Given the description of an element on the screen output the (x, y) to click on. 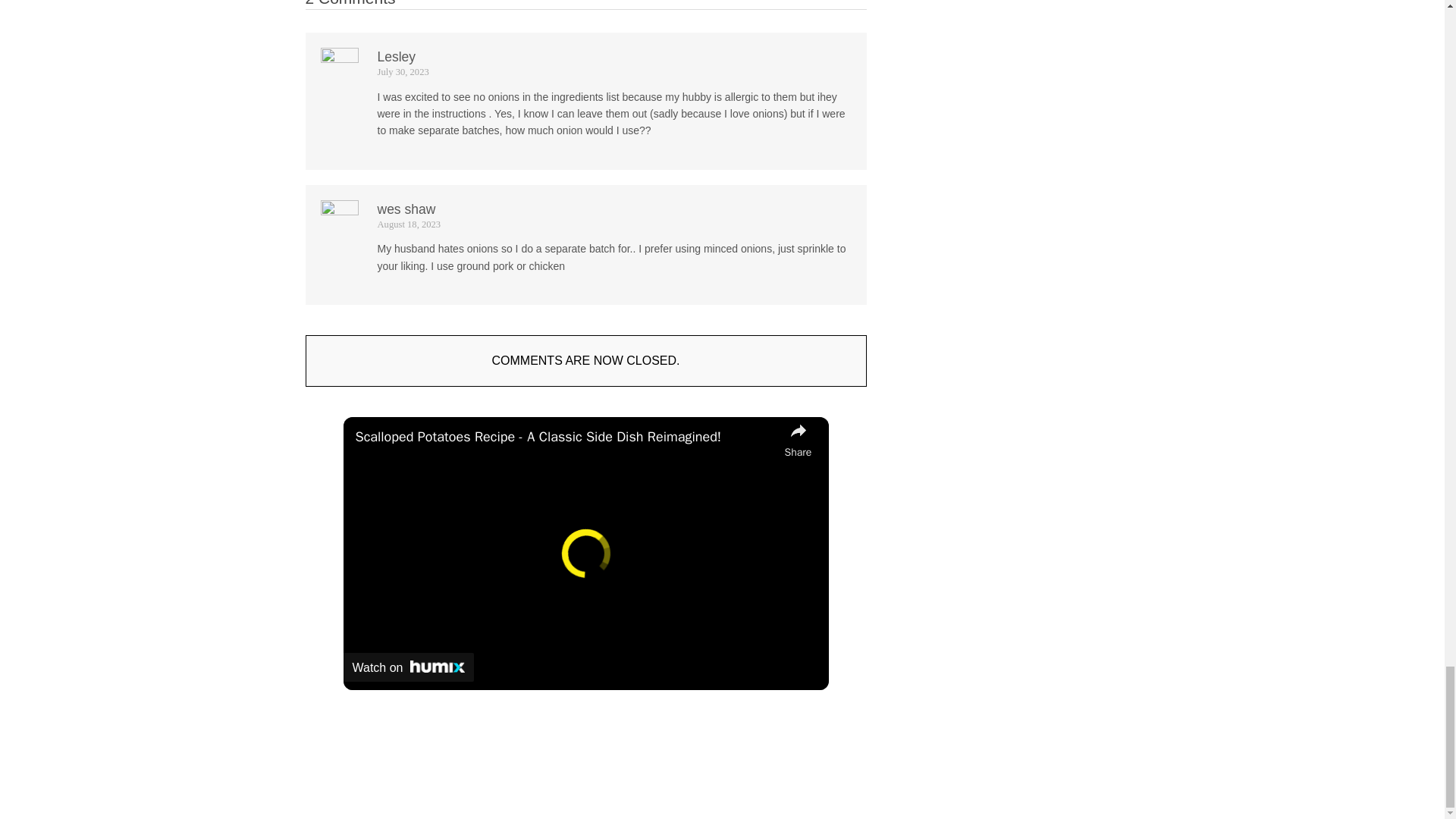
Watch on (407, 666)
August 18, 2023 (409, 224)
Scalloped Potatoes Recipe - A Classic Side Dish Reimagined! (565, 436)
July 30, 2023 (403, 71)
